Given the description of an element on the screen output the (x, y) to click on. 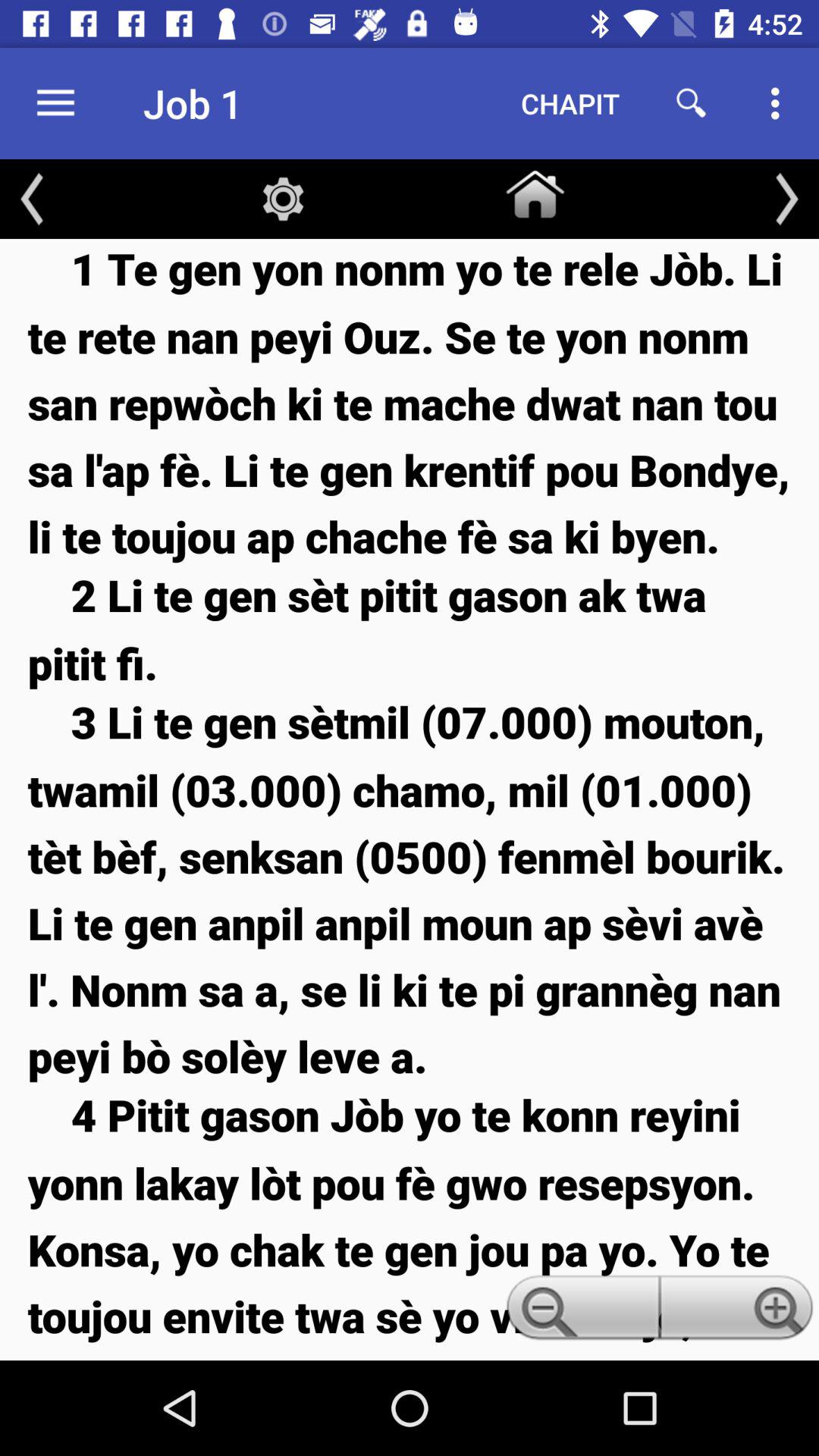
turn off item above the 1 te gen (787, 198)
